Given the description of an element on the screen output the (x, y) to click on. 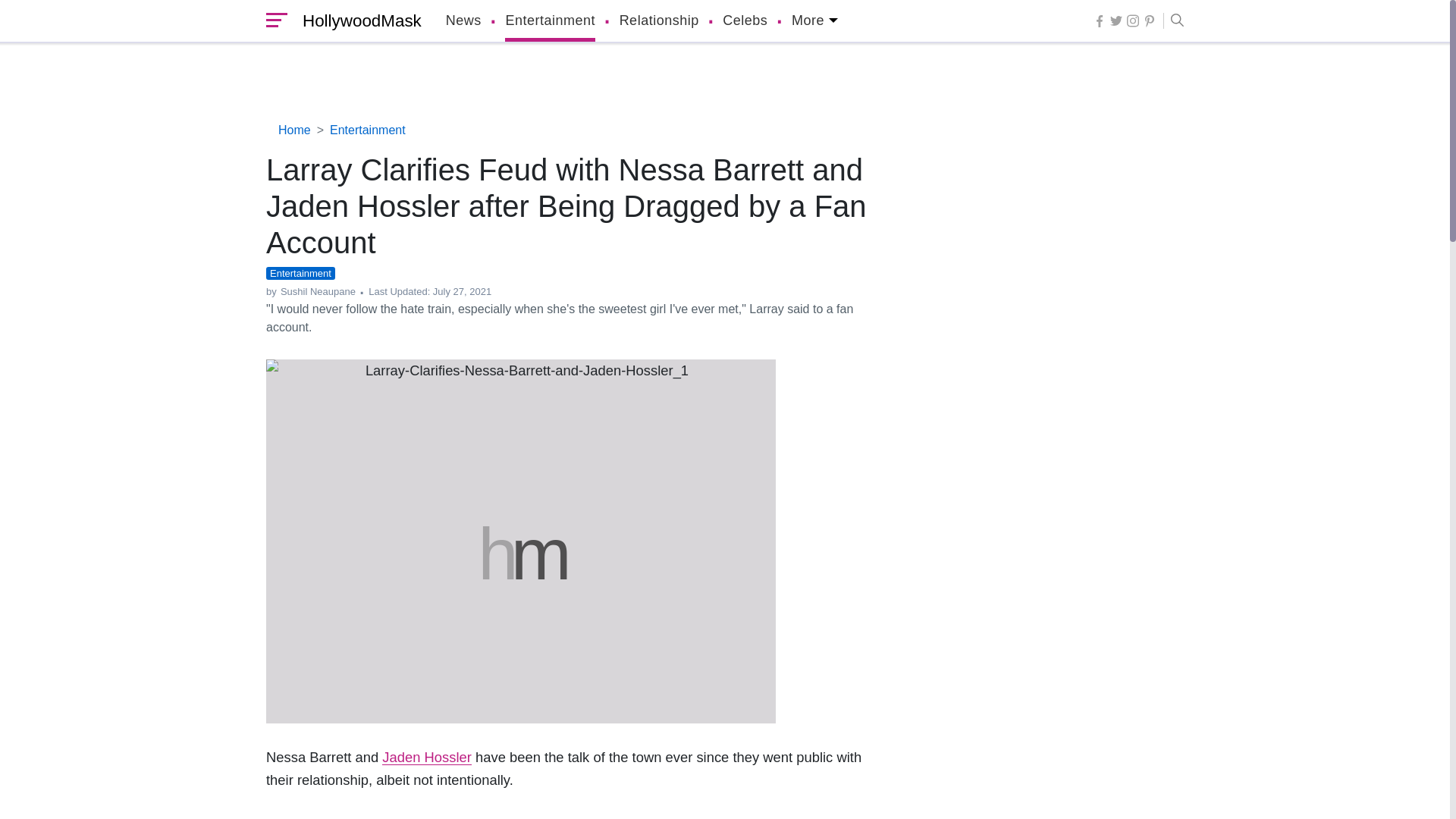
Follow Us On instagram (1132, 20)
Relationship (659, 20)
Entertainment (550, 20)
Search (1173, 20)
More (815, 20)
Celebs (744, 20)
HollywoodMask (358, 21)
HollywoodMask (358, 21)
Celebs (744, 20)
Entertainment (550, 20)
